Given the description of an element on the screen output the (x, y) to click on. 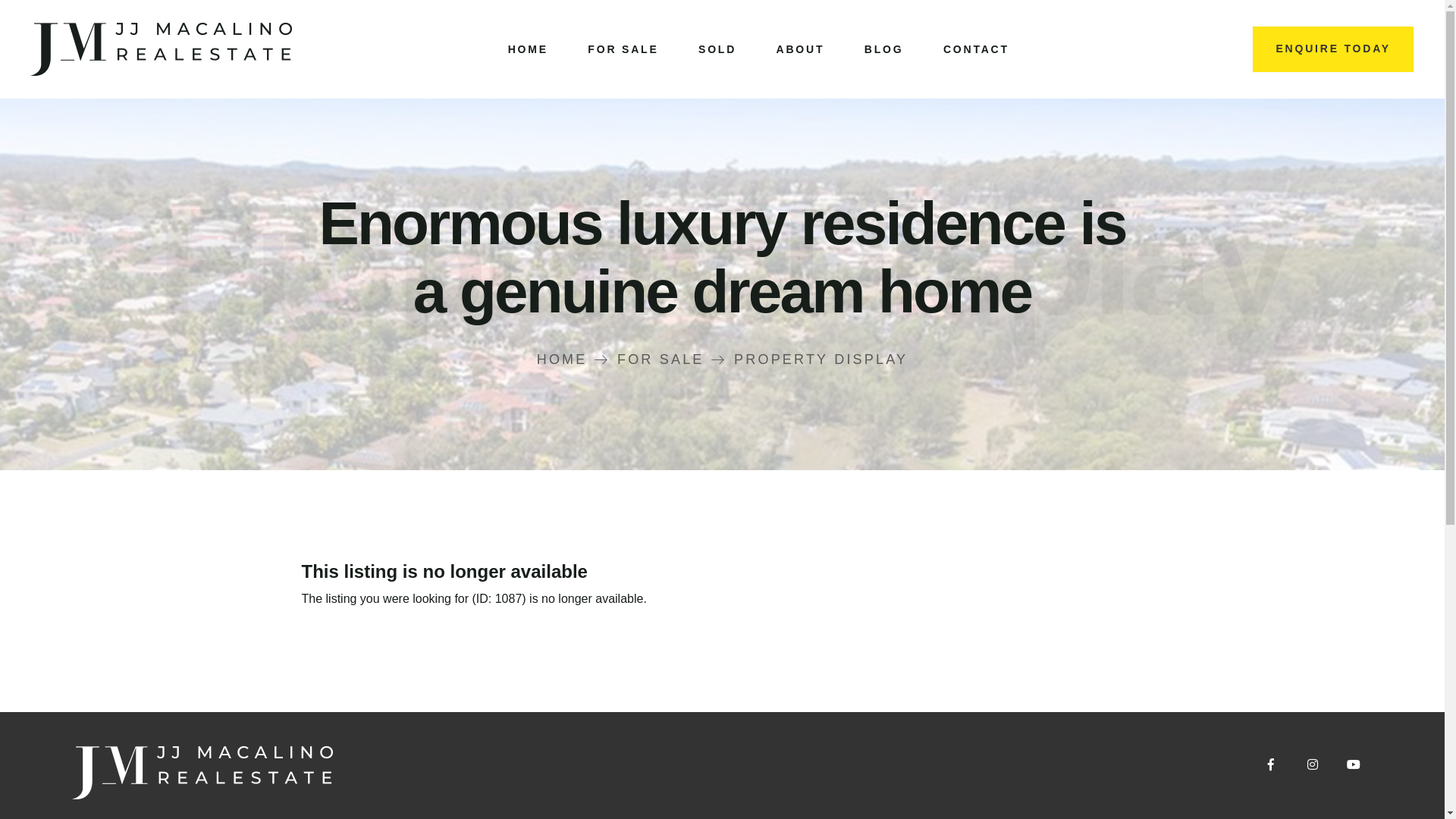
CONTACT Element type: text (976, 49)
FOR SALE Element type: text (672, 359)
ENQUIRE TODAY Element type: text (1333, 48)
ABOUT Element type: text (800, 49)
HOME Element type: text (527, 49)
BLOG Element type: text (884, 49)
FOR SALE Element type: text (622, 49)
SOLD Element type: text (717, 49)
HOME Element type: text (573, 359)
